Given the description of an element on the screen output the (x, y) to click on. 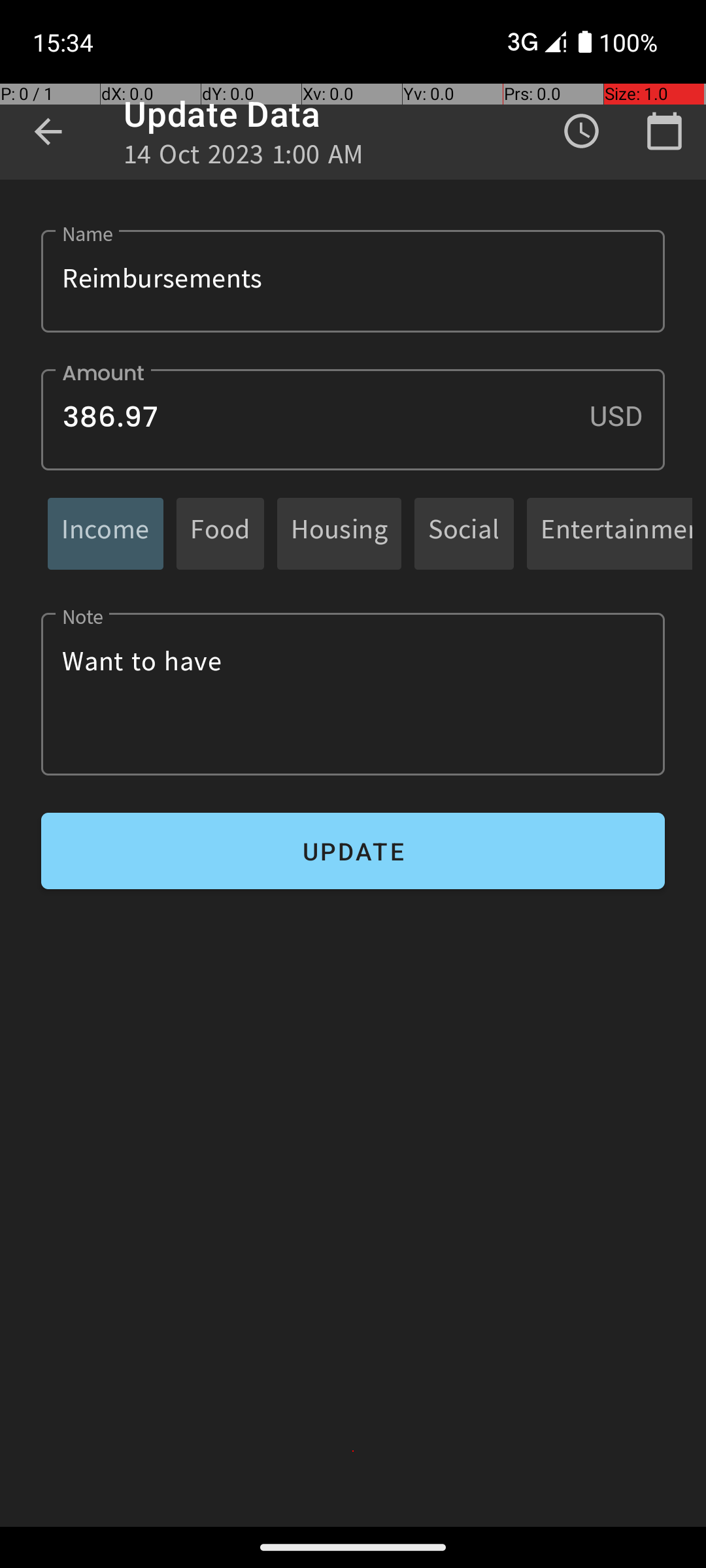
Update Data Element type: android.widget.TextView (221, 113)
14 Oct 2023 1:00 AM Element type: android.widget.TextView (243, 157)
Time Element type: android.widget.TextView (580, 131)
Calendar Element type: android.widget.TextView (664, 131)
Reimbursements Element type: android.widget.EditText (352, 280)
386.97 Element type: android.widget.EditText (352, 419)
USD Element type: android.widget.TextView (626, 415)
Want to have Element type: android.widget.EditText (352, 693)
UPDATE Element type: android.widget.Button (352, 850)
Income Element type: android.widget.TextView (105, 533)
Food Element type: android.widget.TextView (220, 533)
Housing Element type: android.widget.TextView (338, 533)
Social Element type: android.widget.TextView (464, 533)
Entertainment Element type: android.widget.TextView (616, 533)
